Given the description of an element on the screen output the (x, y) to click on. 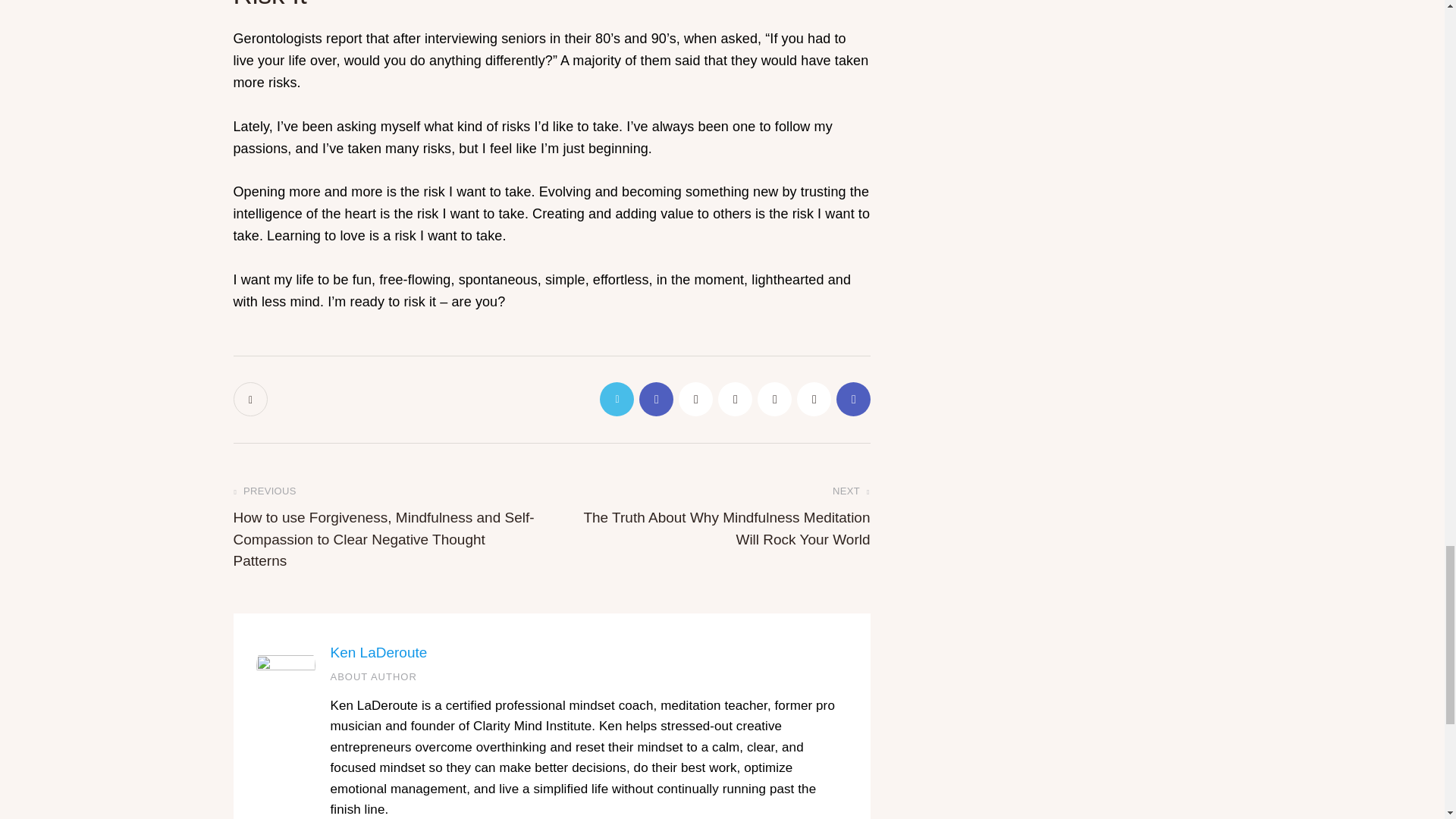
Like (251, 399)
